Given the description of an element on the screen output the (x, y) to click on. 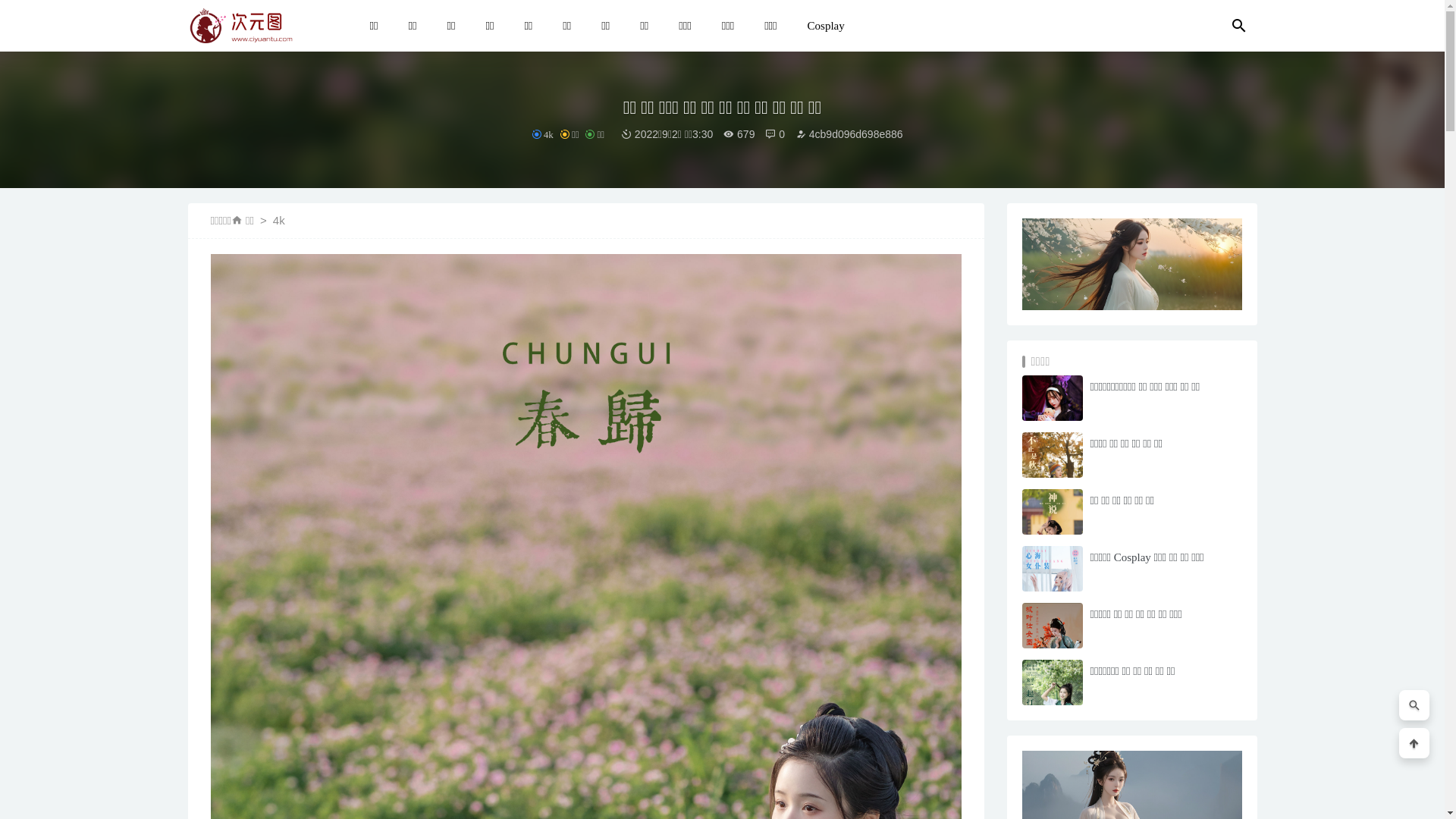
Cosplay Element type: text (825, 25)
4k Element type: text (542, 134)
4k Element type: text (279, 219)
4cb9d096d698e886 Element type: text (849, 134)
